Given the description of an element on the screen output the (x, y) to click on. 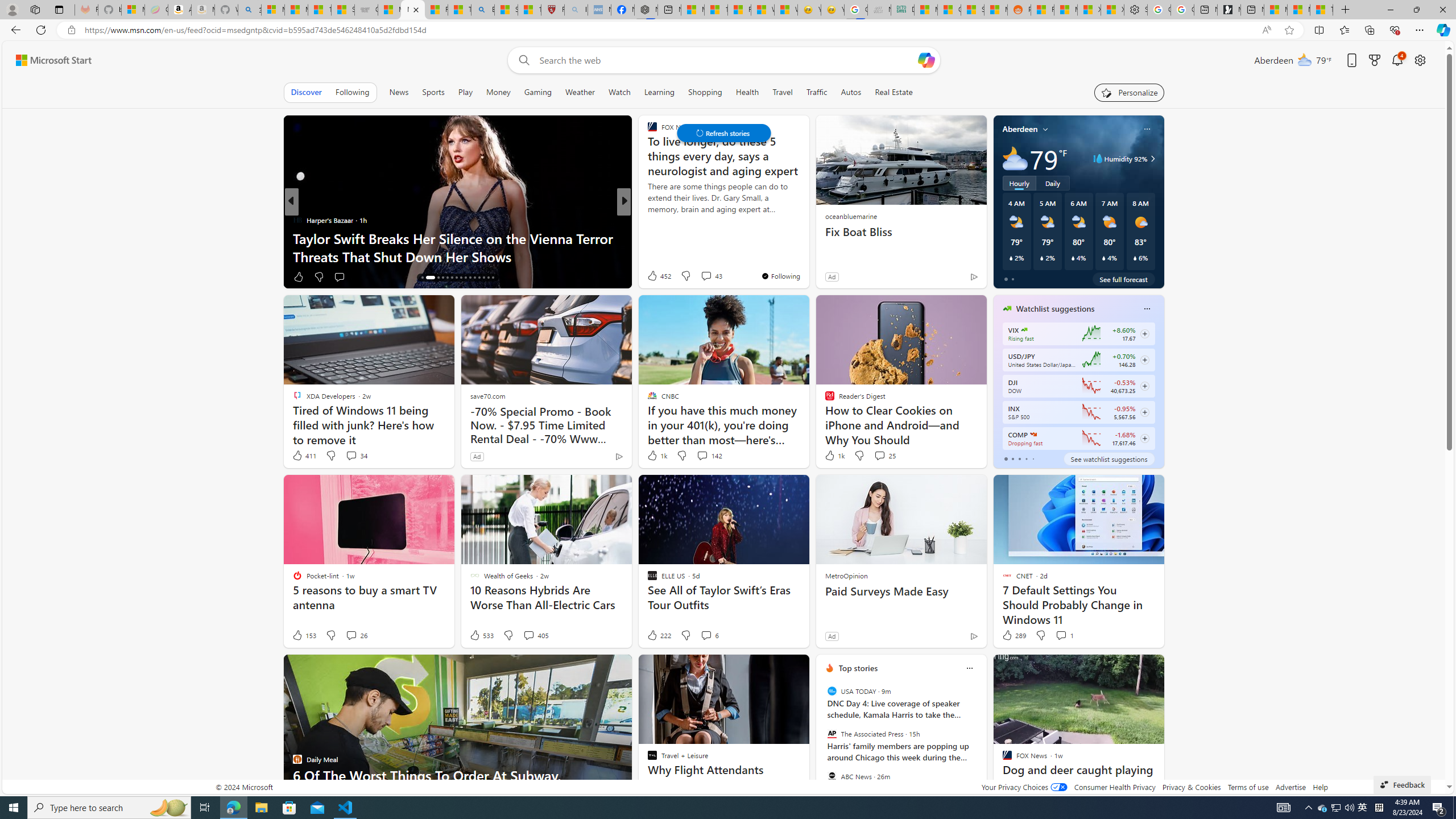
AutomationID: tab-29 (488, 277)
View comments 6 Comment (709, 634)
AutomationID: tab-26 (474, 277)
Savvy Dime (647, 219)
AutomationID: tab-24 (465, 277)
